Given the description of an element on the screen output the (x, y) to click on. 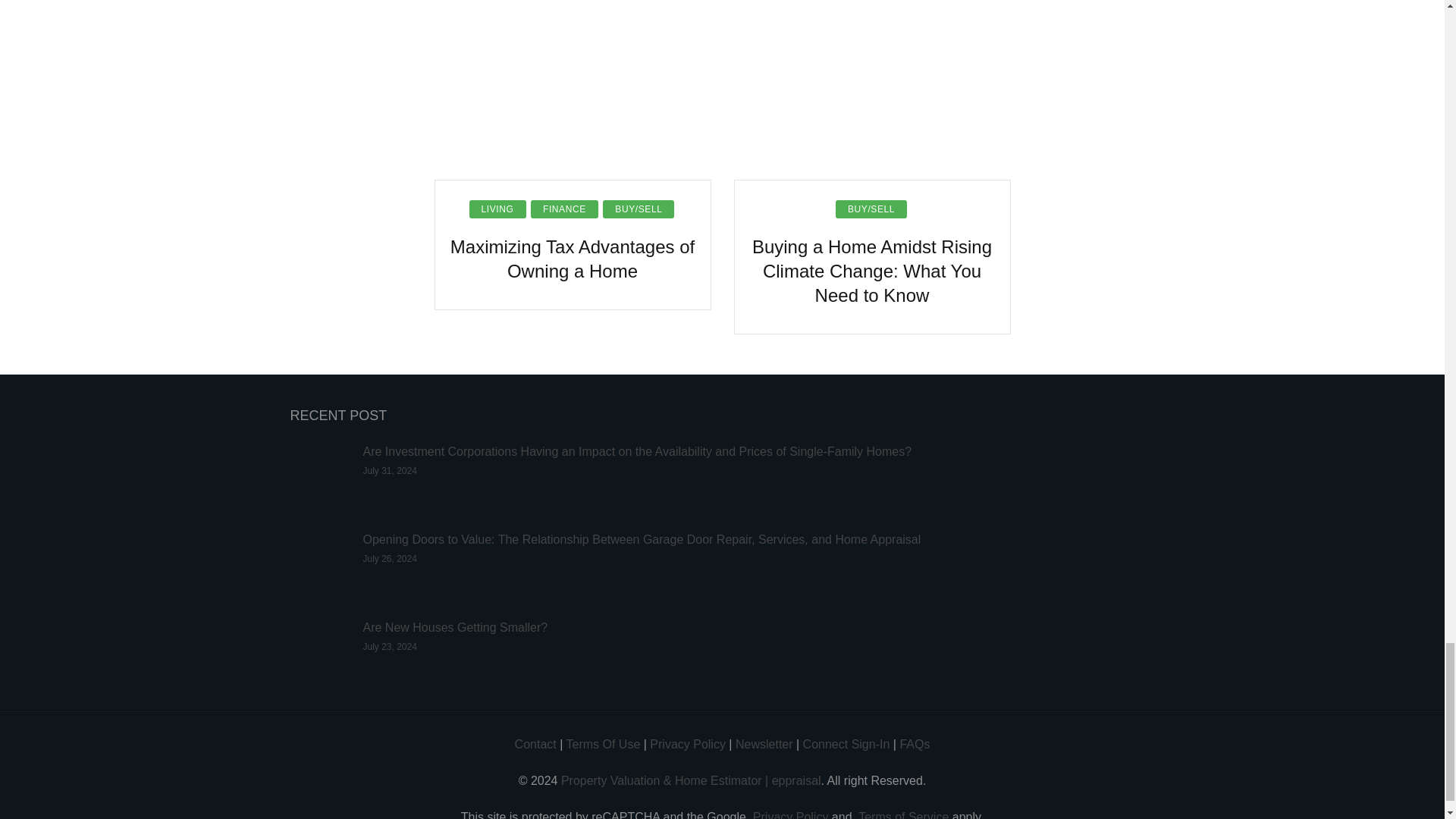
July 26, 2024 (389, 558)
July 23, 2024 (389, 646)
Maximizing Tax Advantages of Owning a Home (572, 259)
Are New Houses Getting Smaller? (454, 626)
FINANCE (564, 208)
July 31, 2024 (389, 470)
LIVING (496, 208)
